Given the description of an element on the screen output the (x, y) to click on. 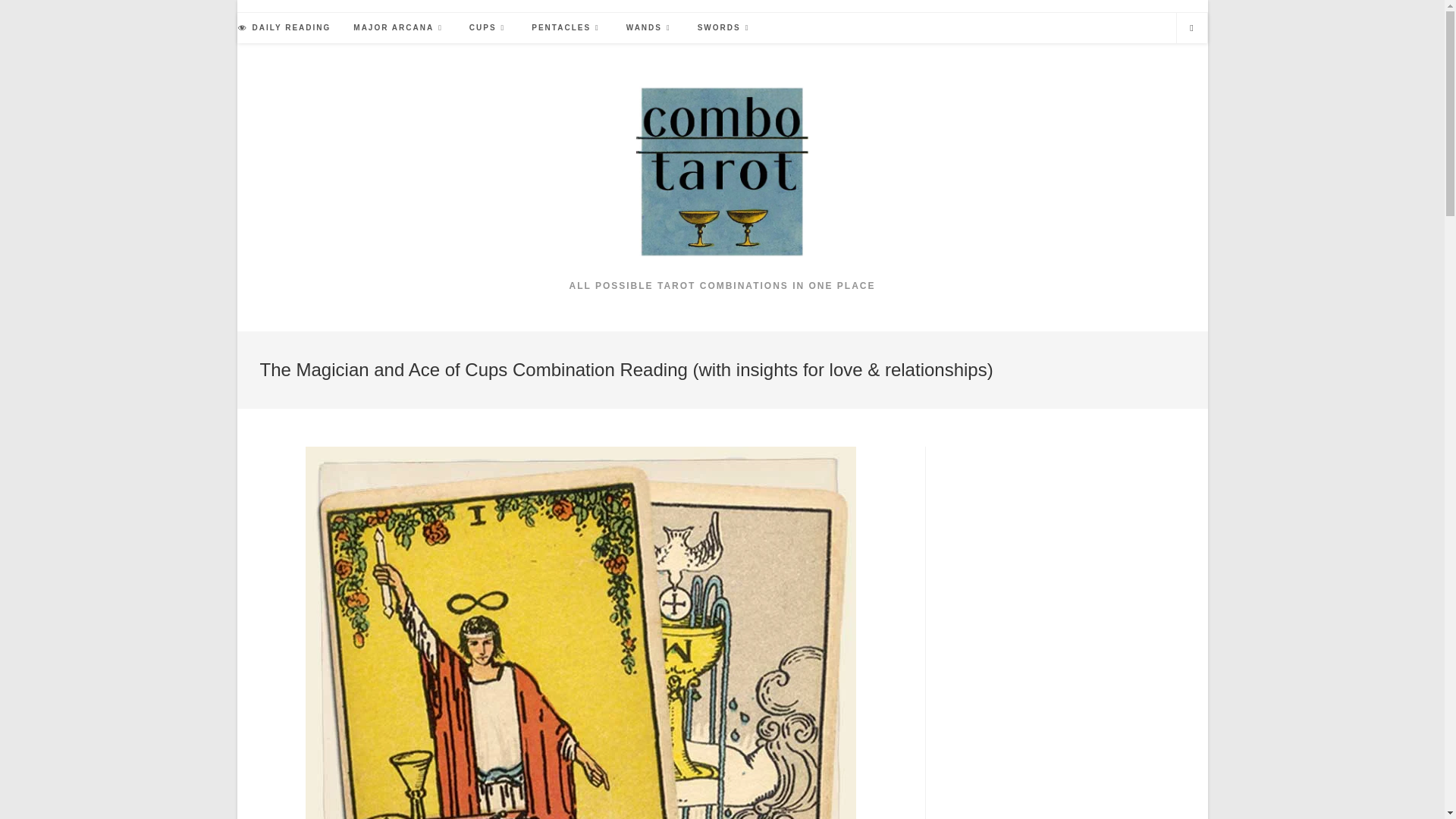
CUPS (488, 28)
DAILY READING (283, 28)
MAJOR ARCANA (400, 28)
